Given the description of an element on the screen output the (x, y) to click on. 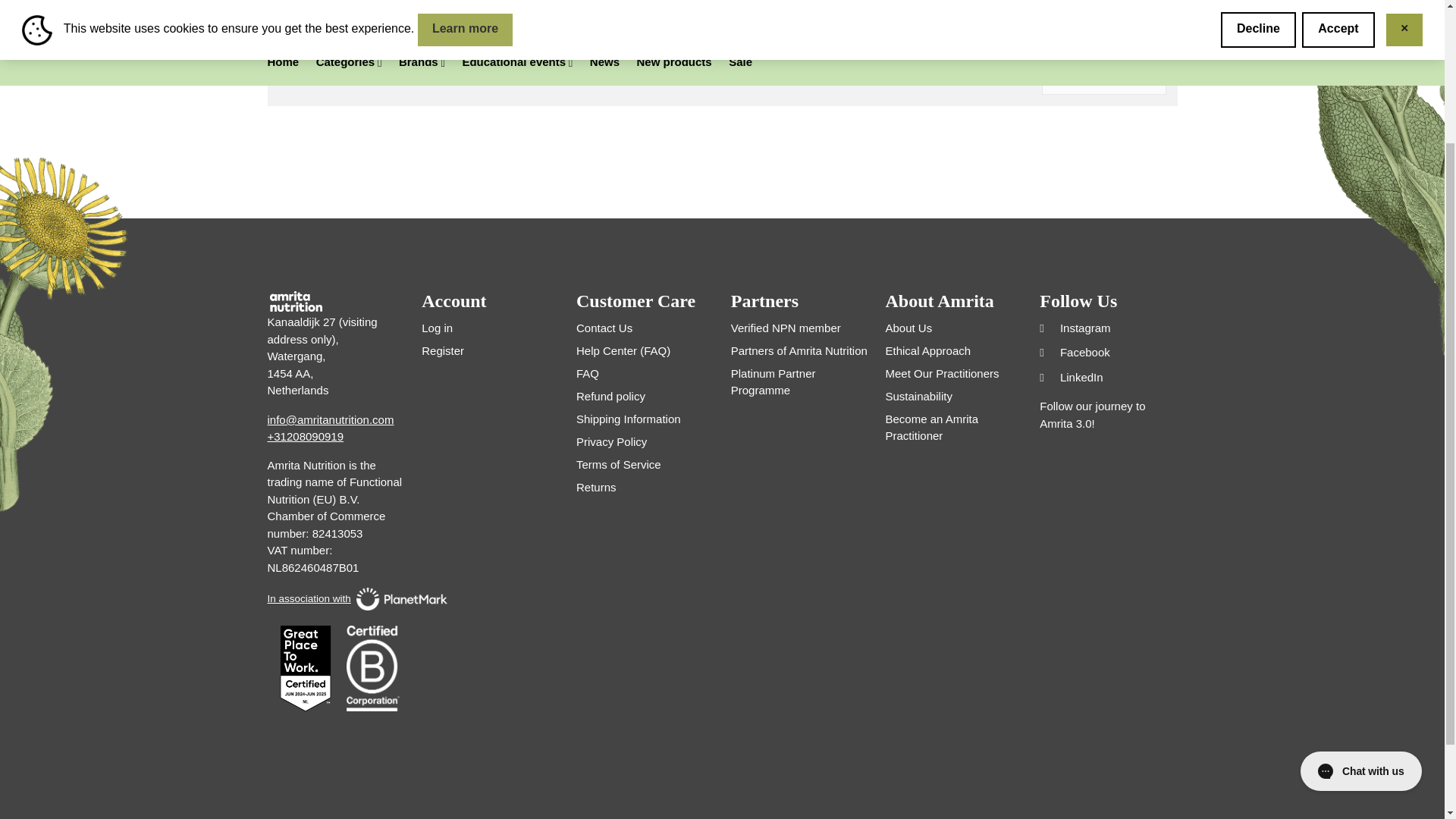
Register (443, 350)
Log in (437, 327)
In association with (335, 599)
Contact Us (603, 327)
Gorgias live chat messenger (1360, 590)
Categories (334, 4)
Home (281, 4)
Products (334, 4)
Home (281, 4)
